Given the description of an element on the screen output the (x, y) to click on. 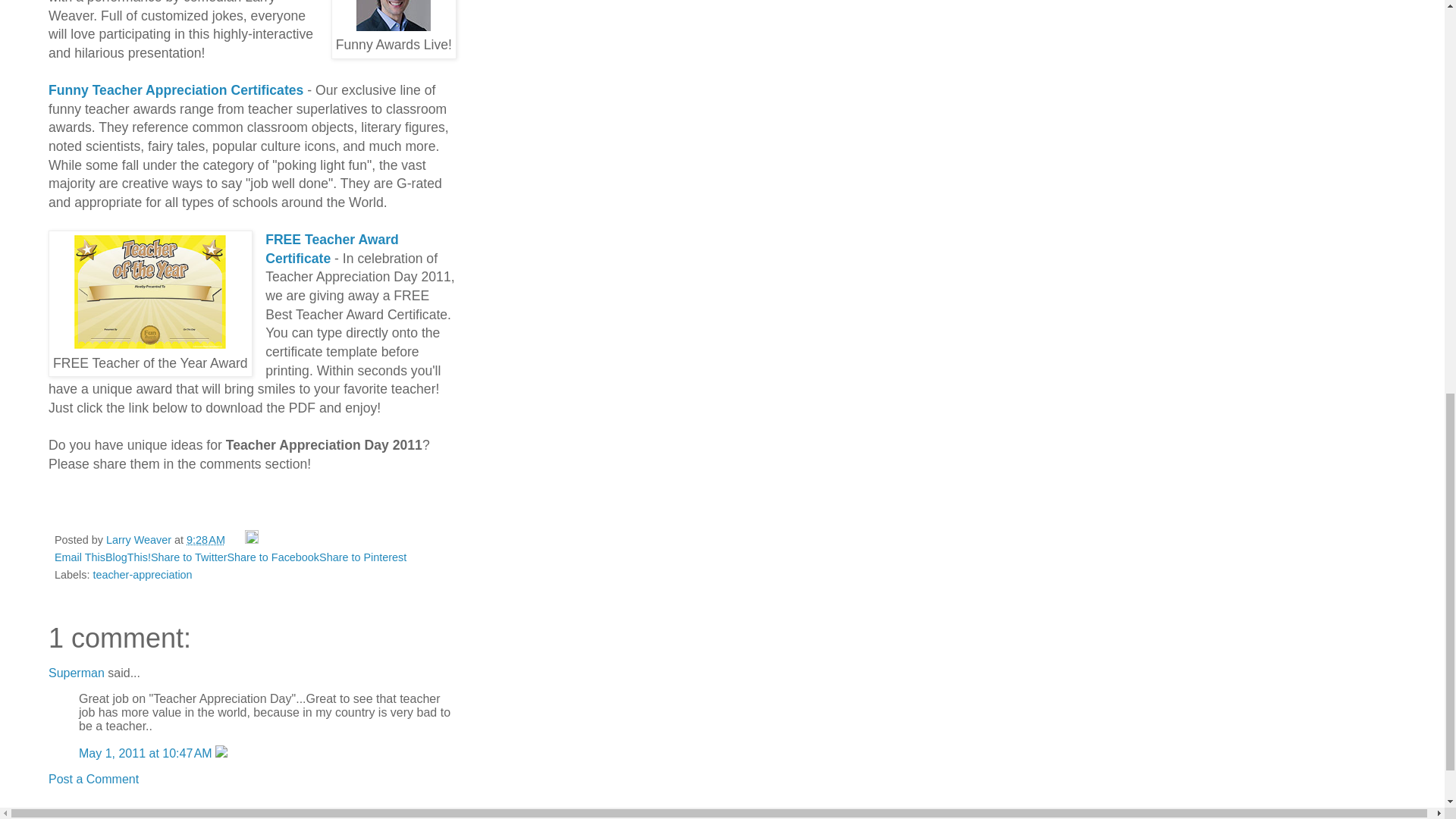
FREE Teacher Award Certificate (331, 248)
Funny Teacher Appreciation Certificates (175, 89)
Share to Facebook (272, 557)
Share to Twitter (189, 557)
author profile (140, 539)
teacher-appreciation (142, 574)
BlogThis! (127, 557)
Share to Pinterest (362, 557)
permanent link (205, 539)
Share to Twitter (189, 557)
